Given the description of an element on the screen output the (x, y) to click on. 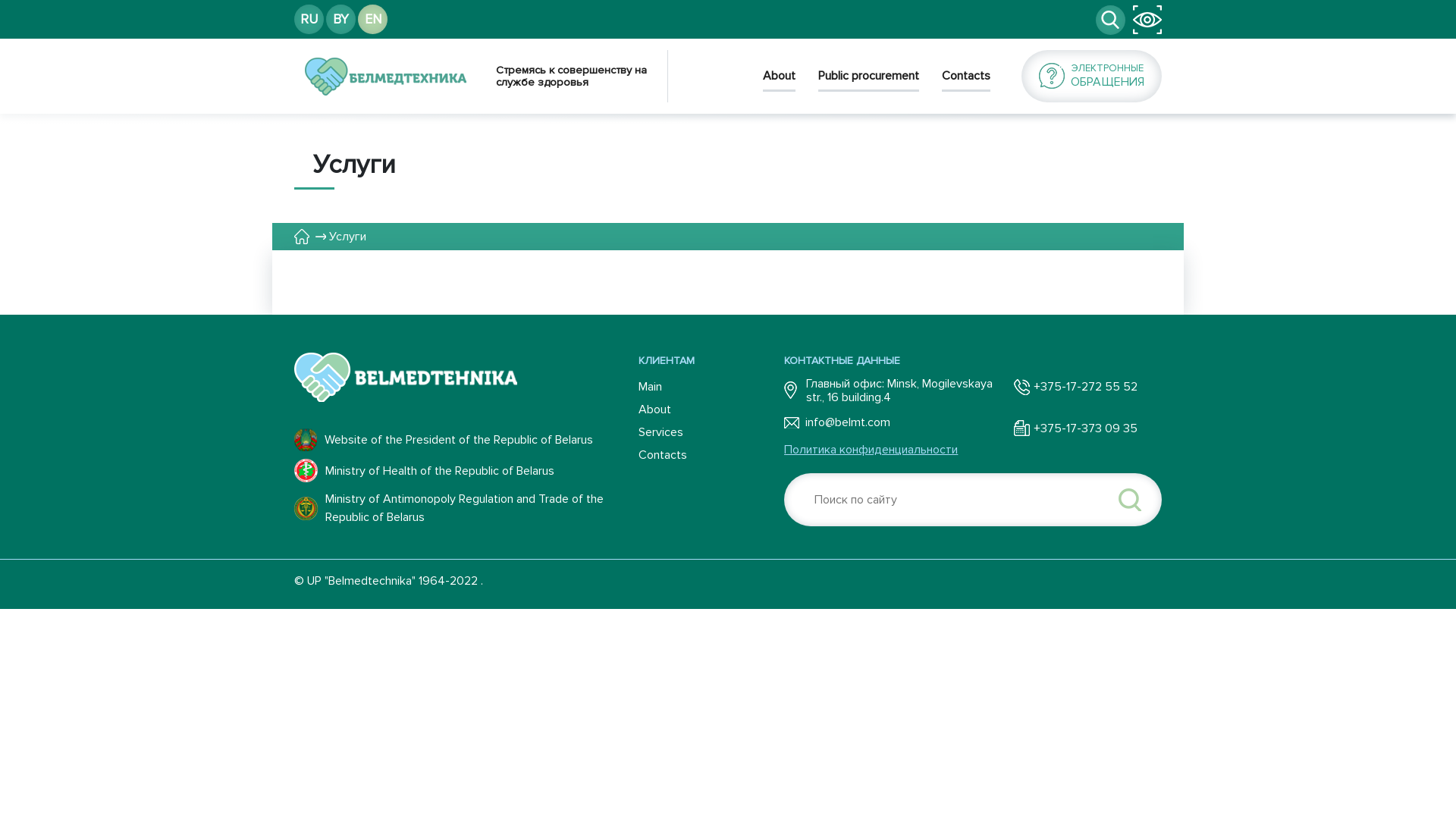
About Element type: text (711, 409)
EN Element type: text (372, 19)
Public procurement Element type: text (868, 79)
info@belmt.com Element type: text (894, 422)
Services Element type: text (711, 432)
Main Element type: text (711, 386)
+375-17-373 09 35 Element type: text (1075, 428)
RU Element type: text (308, 19)
Contacts Element type: text (711, 454)
Website of the President of the Republic of Belarus Element type: text (466, 439)
Ministry of Health of the Republic of Belarus Element type: text (466, 470)
+375-17-272 55 52 Element type: text (1075, 386)
Contacts Element type: text (965, 79)
BY Element type: text (340, 19)
About Element type: text (778, 79)
